Given the description of an element on the screen output the (x, y) to click on. 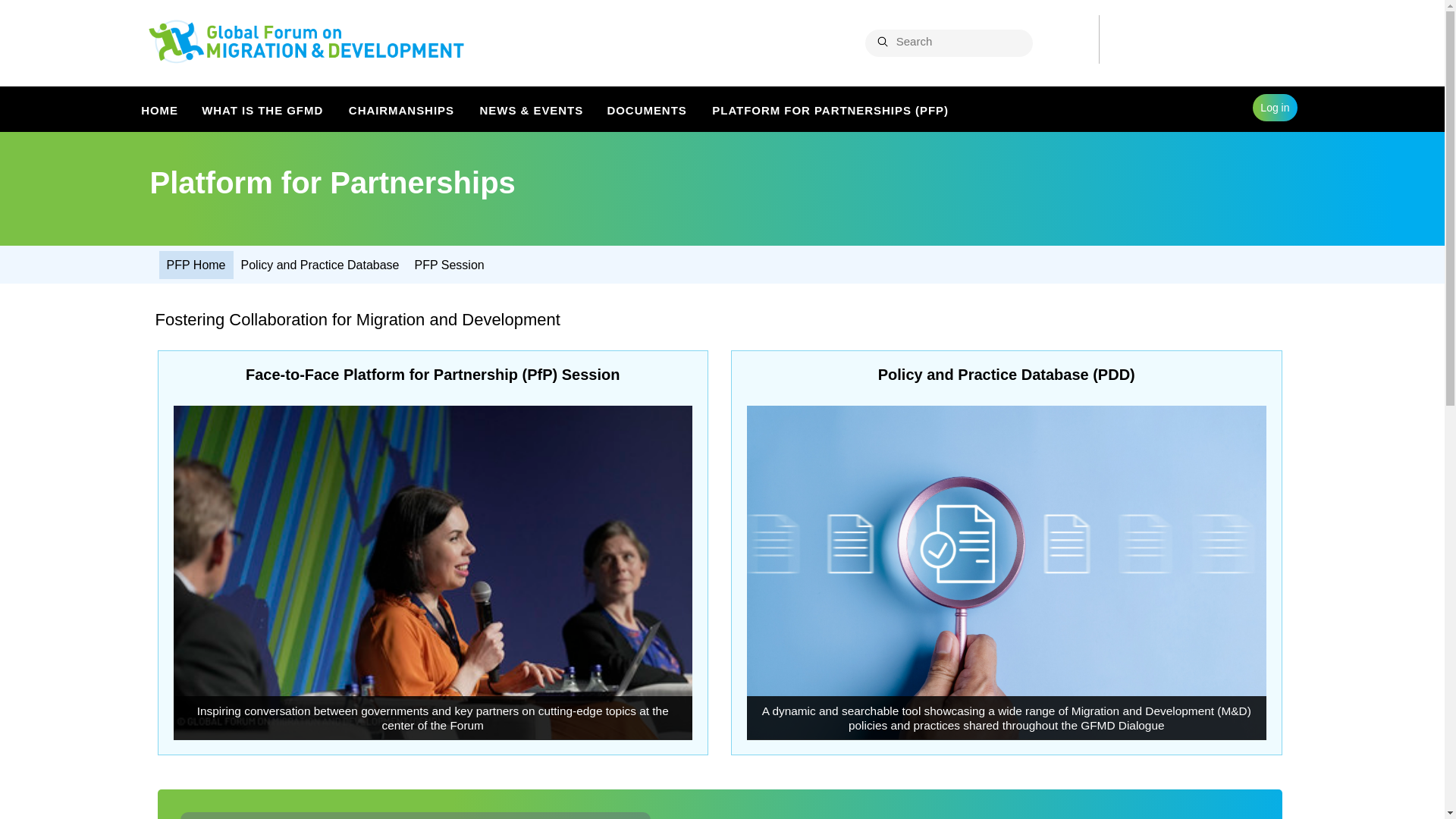
HOME (159, 108)
WHAT IS THE GFMD (263, 108)
DOCUMENTS (647, 108)
CHAIRMANSHIPS (401, 108)
